Given the description of an element on the screen output the (x, y) to click on. 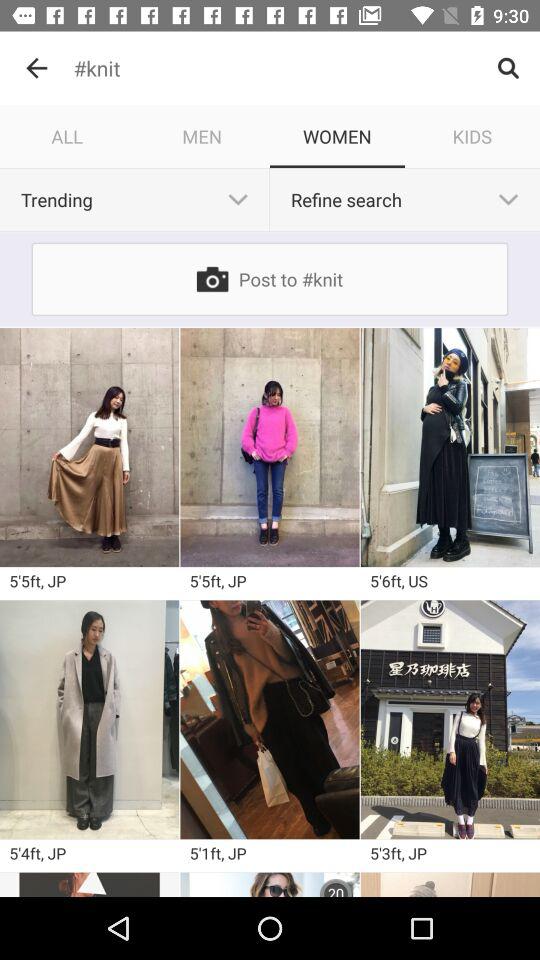
different dresses in different scenes (450, 447)
